Given the description of an element on the screen output the (x, y) to click on. 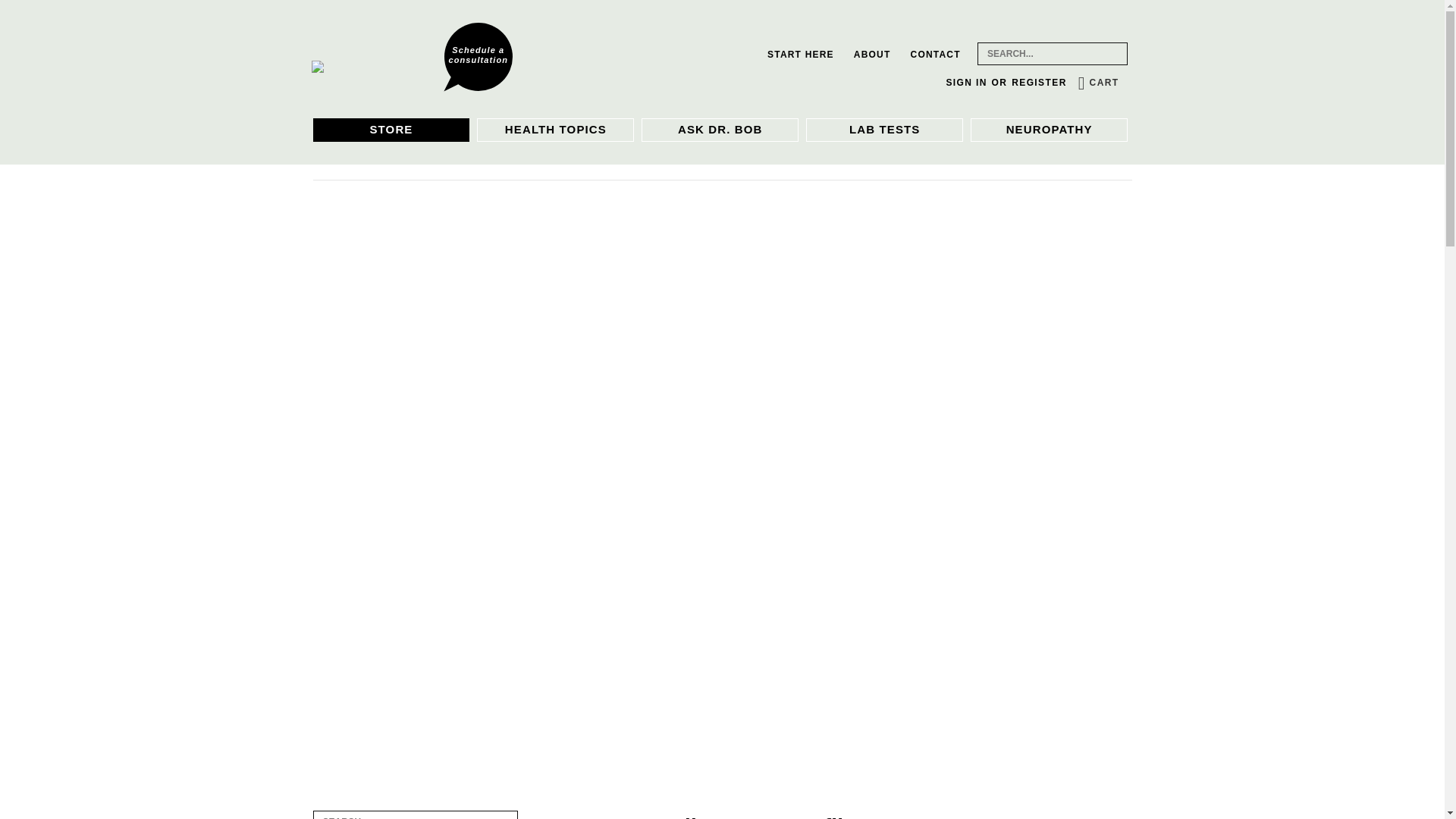
REGISTER (1039, 82)
ABOUT (872, 53)
SIGN IN (965, 82)
START HERE (800, 53)
CONTACT (935, 53)
Schedule a consultation (478, 56)
Drugless Doctor (371, 66)
HEALTH TOPICS (555, 129)
STORE (390, 129)
CART (1098, 82)
